Given the description of an element on the screen output the (x, y) to click on. 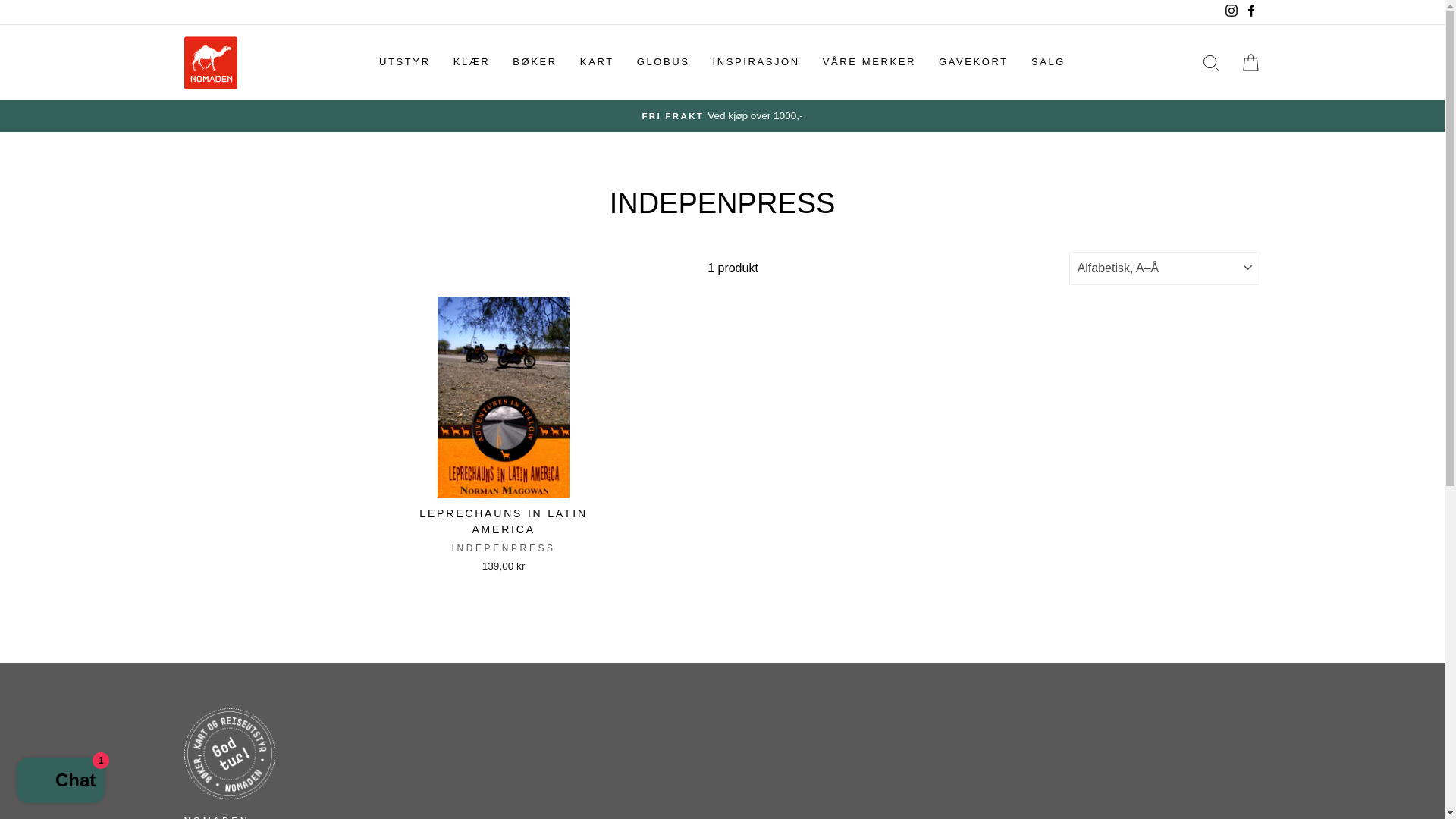
Shopify-nettbutikkchat (60, 781)
